Given the description of an element on the screen output the (x, y) to click on. 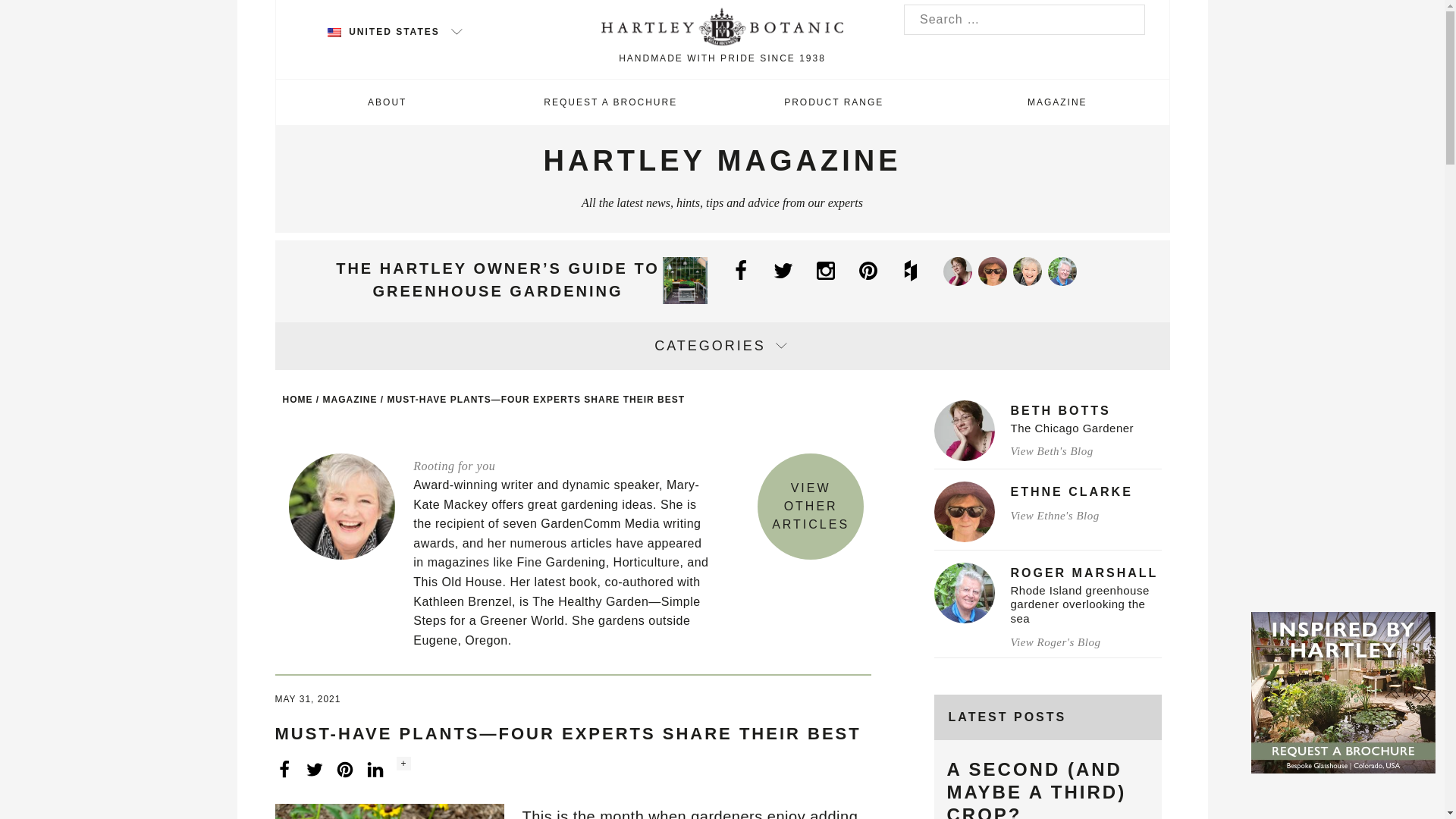
Follow Hartley on Instagram (825, 266)
HANDMADE WITH PRIDE SINCE 1938 (722, 38)
United States (333, 31)
ABOUT (387, 102)
Follow Hartley on Twitter (783, 266)
Follow Hartley on Facebook (741, 266)
Follow Hartley on Houzz (911, 266)
Search (28, 12)
Follow Hartley on Pinterest (868, 266)
  UNITED STATES (396, 31)
